Given the description of an element on the screen output the (x, y) to click on. 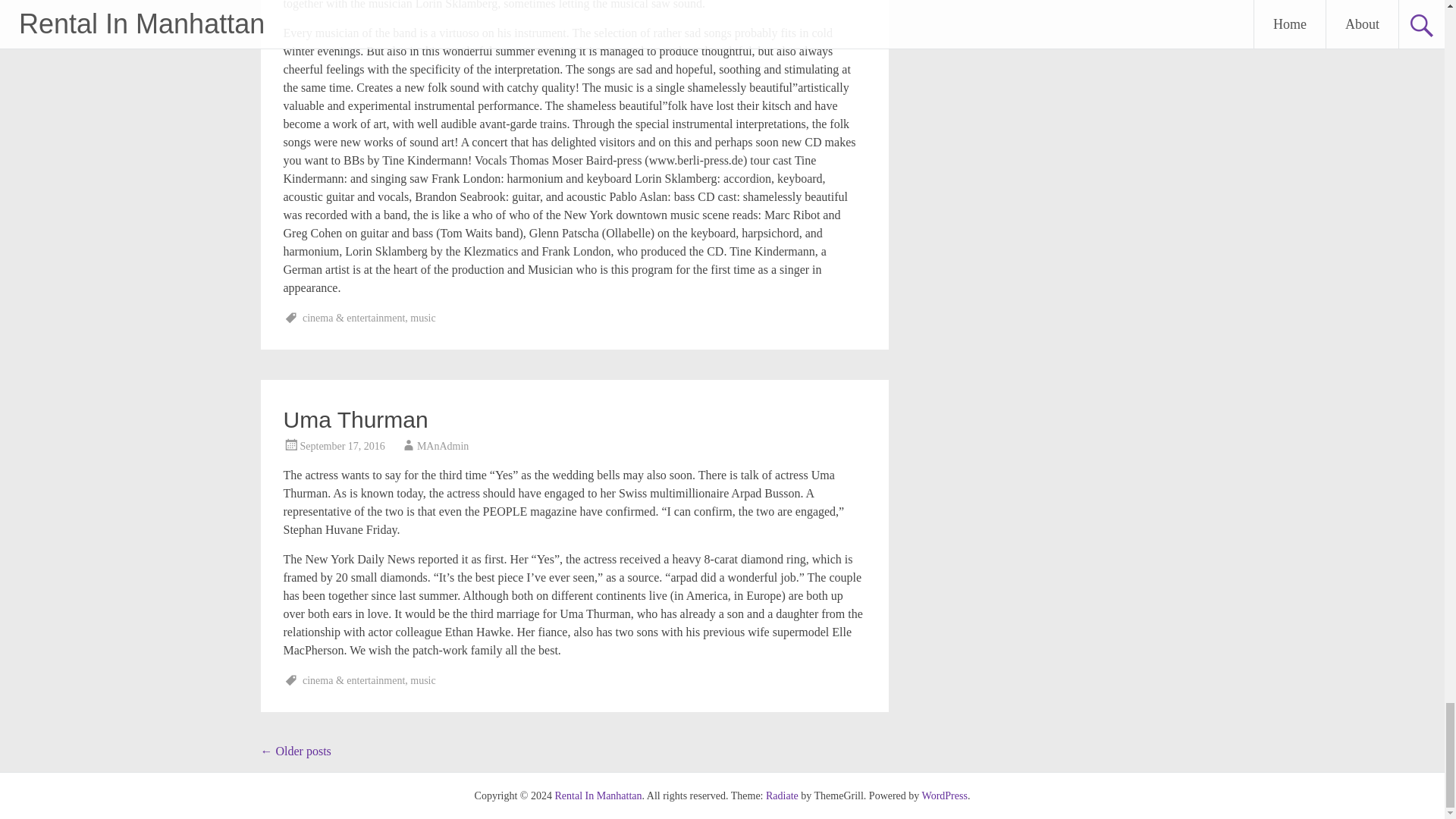
WordPress (944, 795)
Radiate (781, 795)
Rental In Manhattan (598, 795)
